Given the description of an element on the screen output the (x, y) to click on. 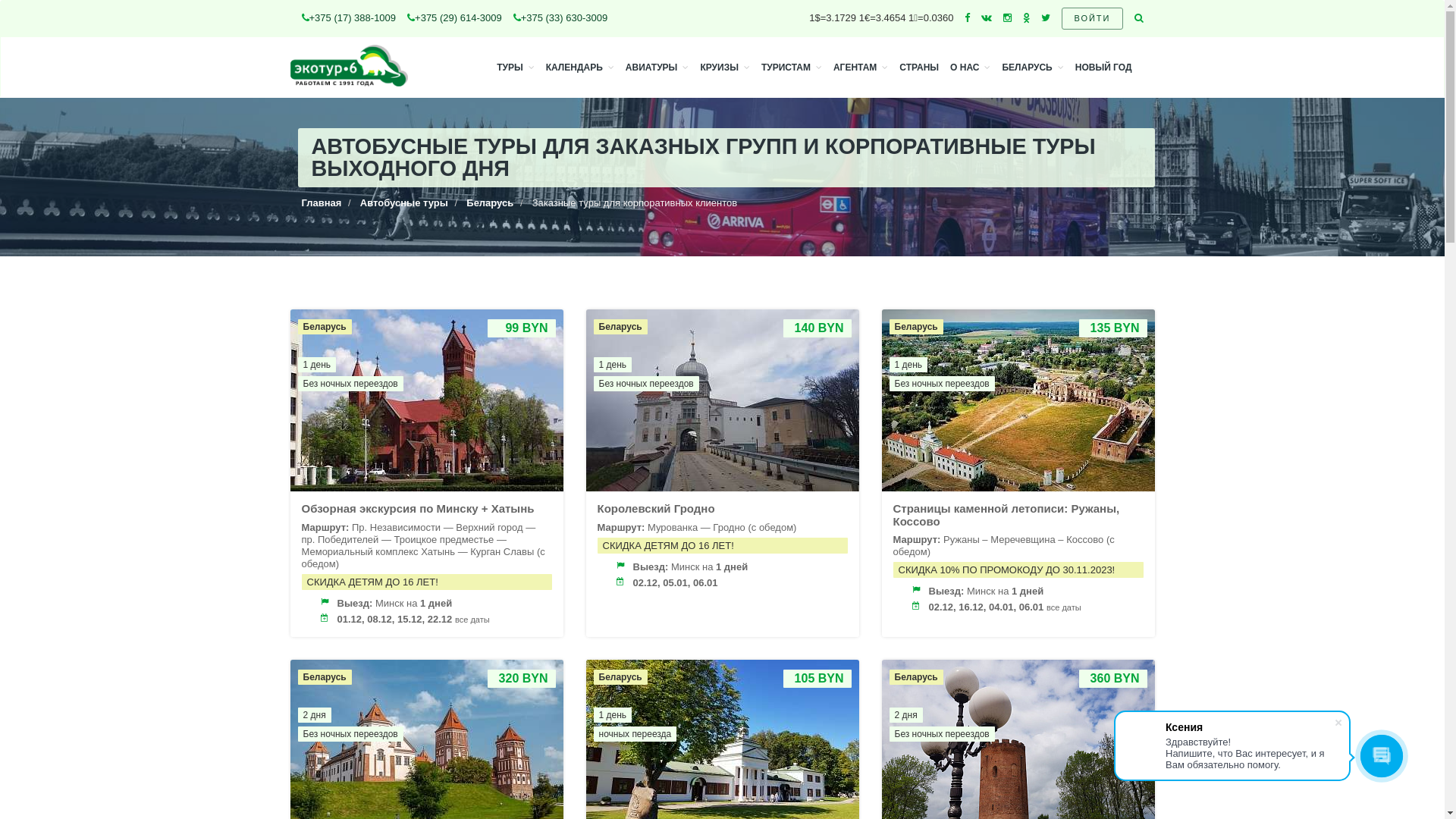
+375 (33) 630-3009 Element type: text (560, 17)
+375 (29) 614-3009 Element type: text (454, 17)
+375 (17) 388-1009 Element type: text (348, 17)
facebook Element type: hover (966, 17)
instagram Element type: hover (1007, 17)
twitter Element type: hover (1045, 17)
